Given the description of an element on the screen output the (x, y) to click on. 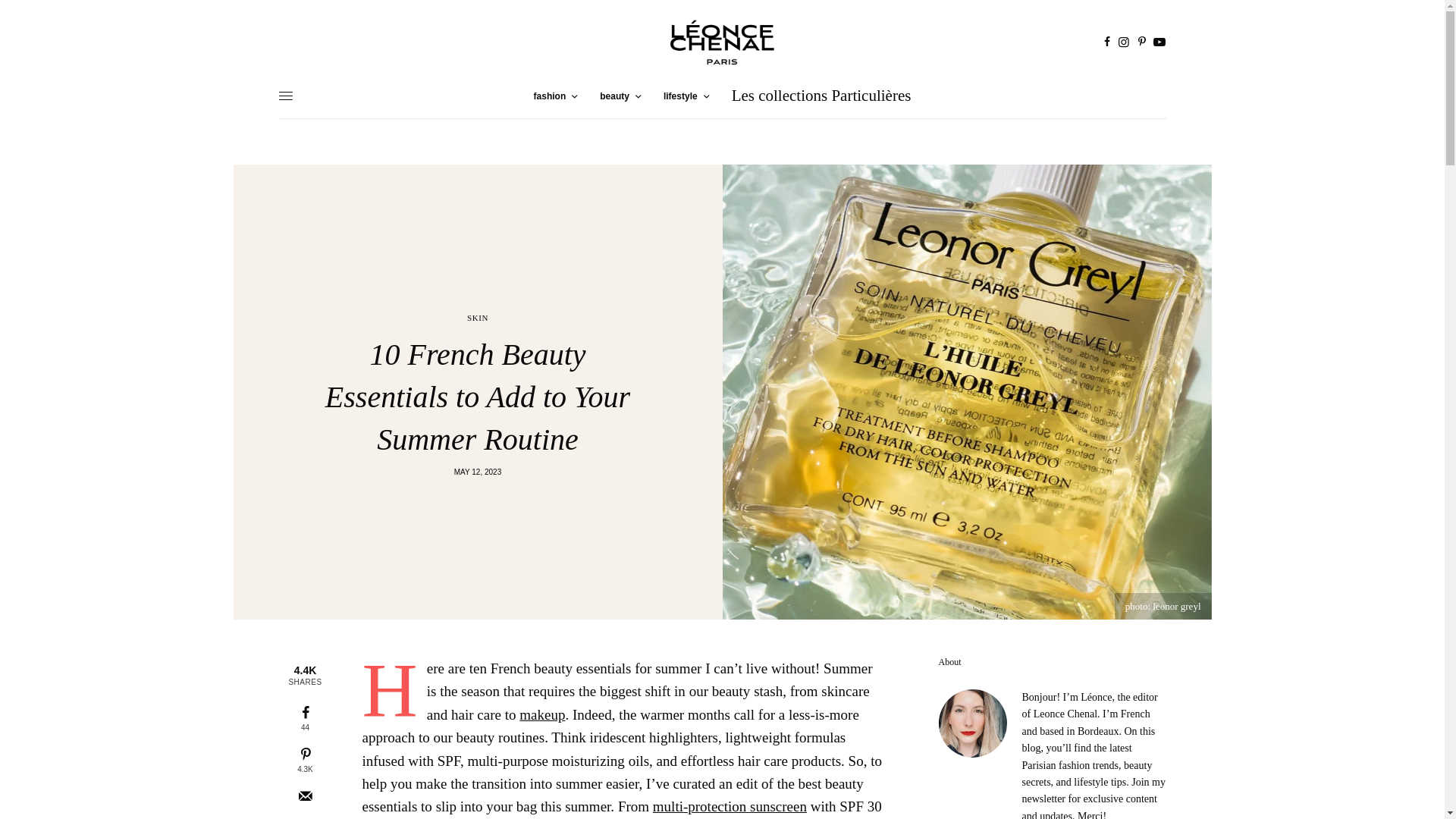
multi-protection sunscreen (729, 806)
beauty (619, 94)
lifestyle (686, 94)
fashion (556, 94)
makeup (541, 714)
SKIN (477, 317)
Leonce Chenal (721, 42)
44 (304, 718)
4.3K (304, 759)
